Given the description of an element on the screen output the (x, y) to click on. 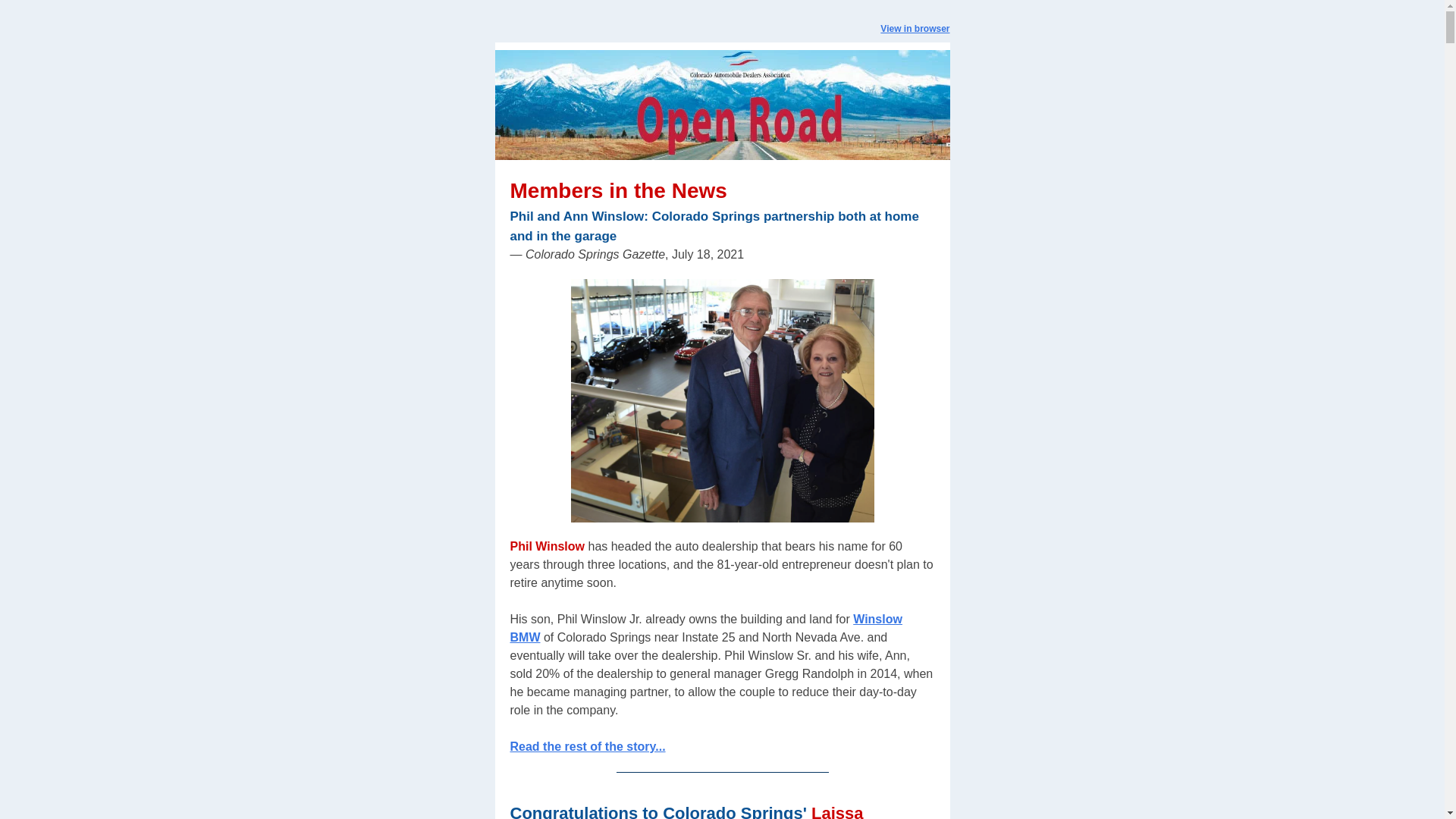
View in browser Element type: text (914, 28)
Winslow BMW Element type: text (705, 627)
Read the rest of the story... Element type: text (587, 746)
